Given the description of an element on the screen output the (x, y) to click on. 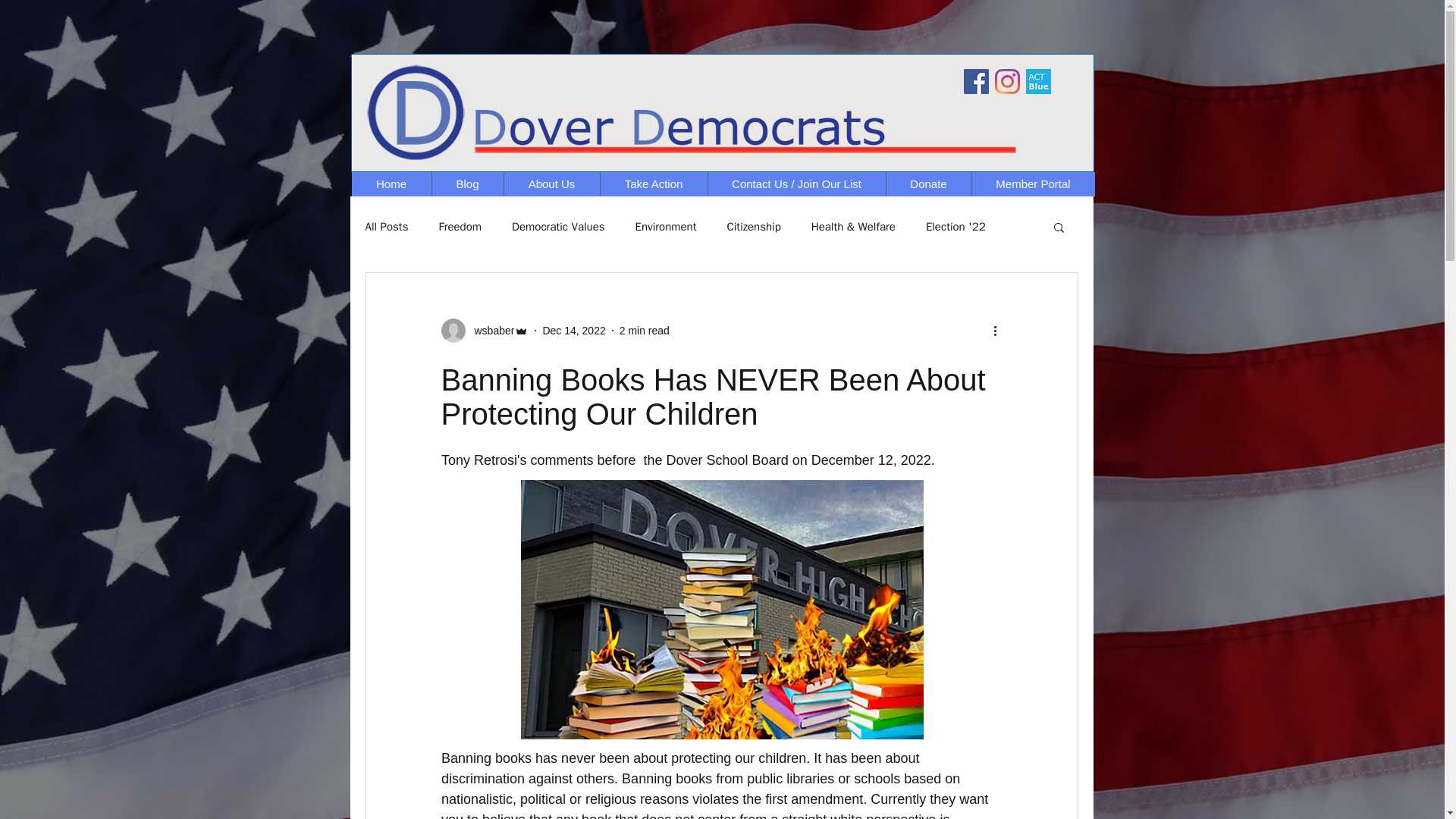
Member Portal (1032, 183)
Dec 14, 2022 (573, 330)
All Posts (387, 227)
Citizenship (753, 227)
Home (391, 183)
Freedom (459, 227)
Environment (665, 227)
Democratic Values (558, 227)
2 min read (644, 330)
Blog (466, 183)
